Given the description of an element on the screen output the (x, y) to click on. 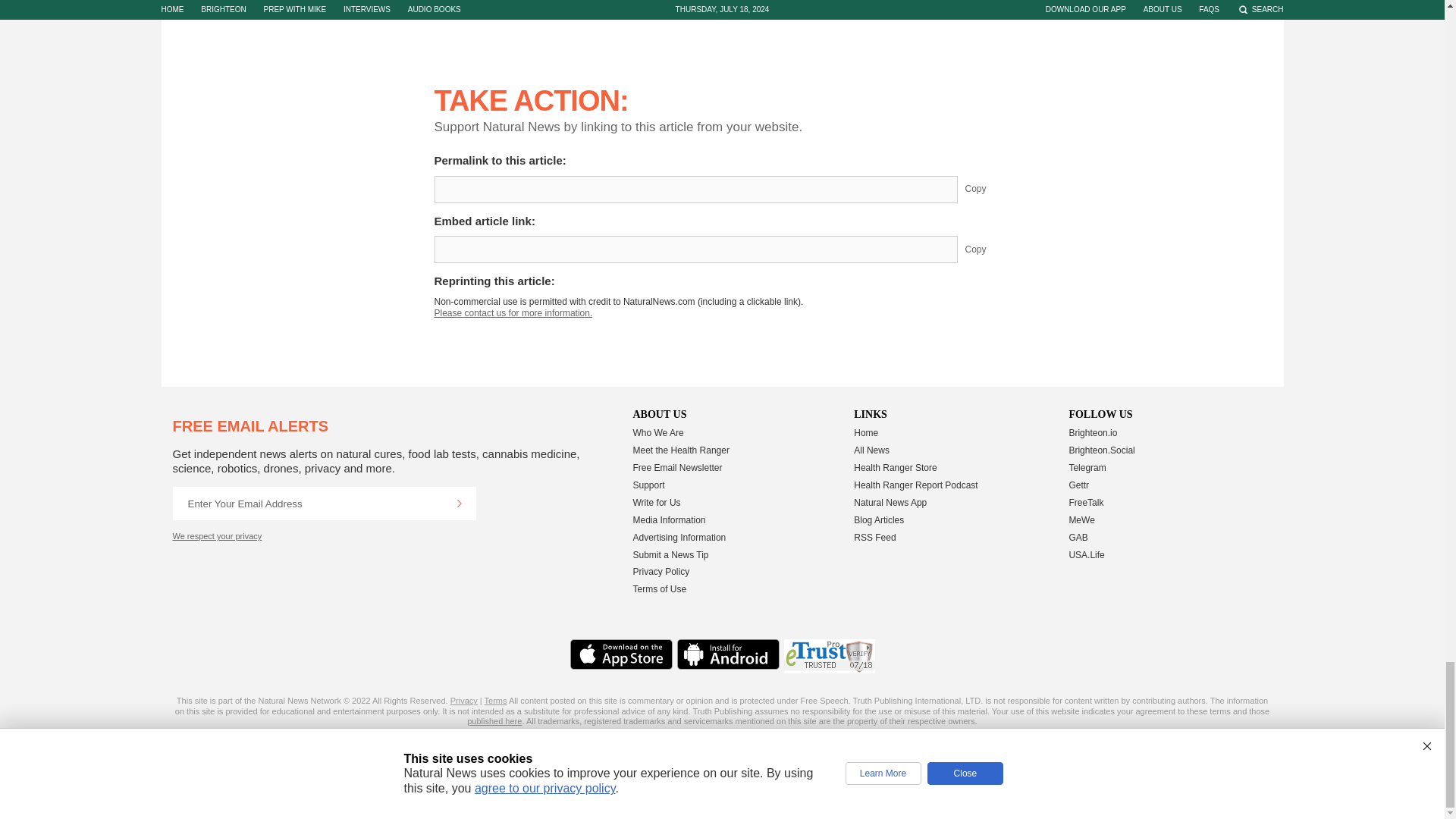
Continue (459, 503)
Copy Permalink (986, 188)
eTrust Pro Certified (829, 656)
Copy Embed Link (986, 248)
